Given the description of an element on the screen output the (x, y) to click on. 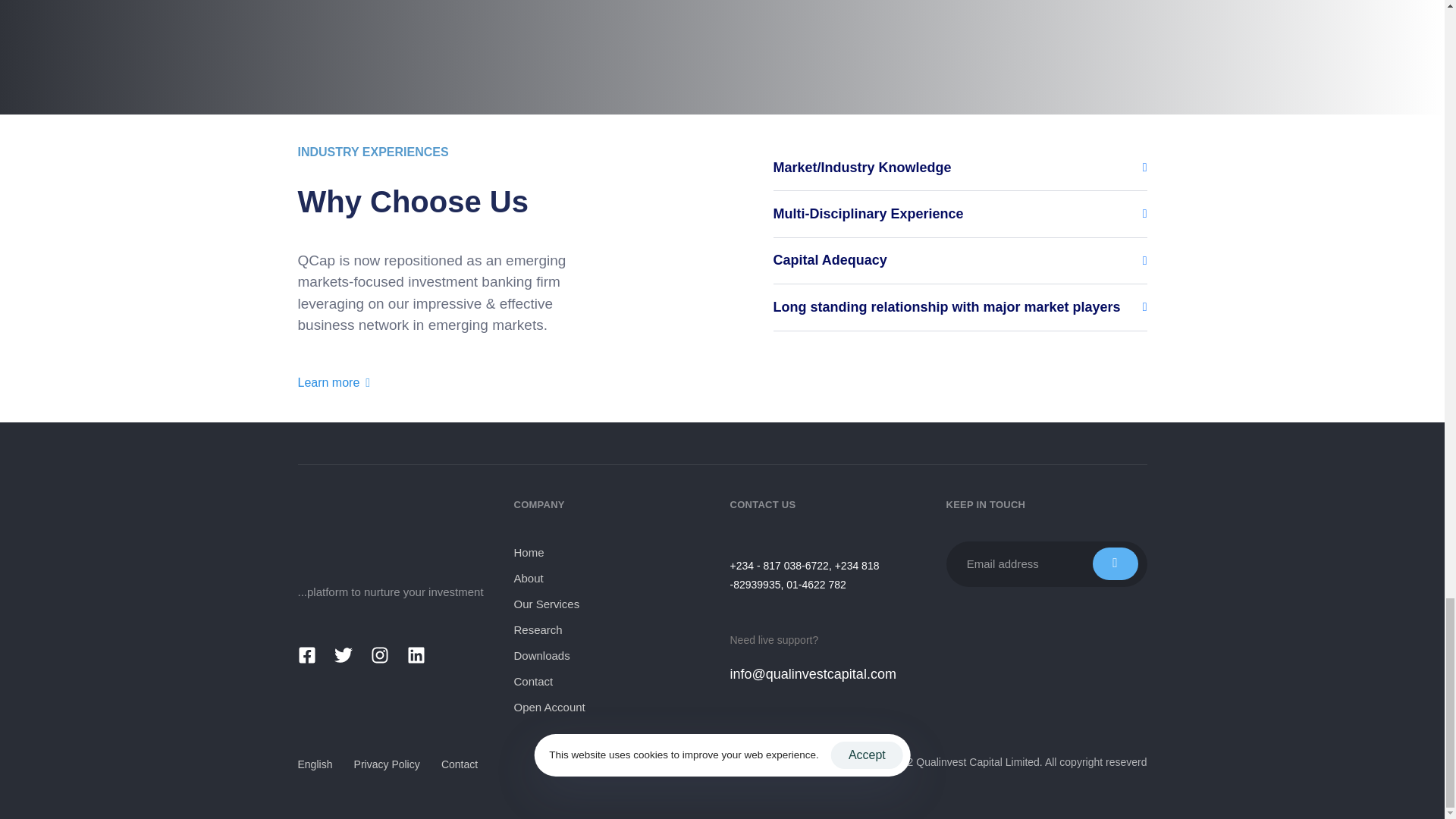
Multi-Disciplinary Experience (960, 213)
Long standing relationship with major market players (960, 307)
Capital Adequacy (960, 261)
Learn more (333, 382)
